Given the description of an element on the screen output the (x, y) to click on. 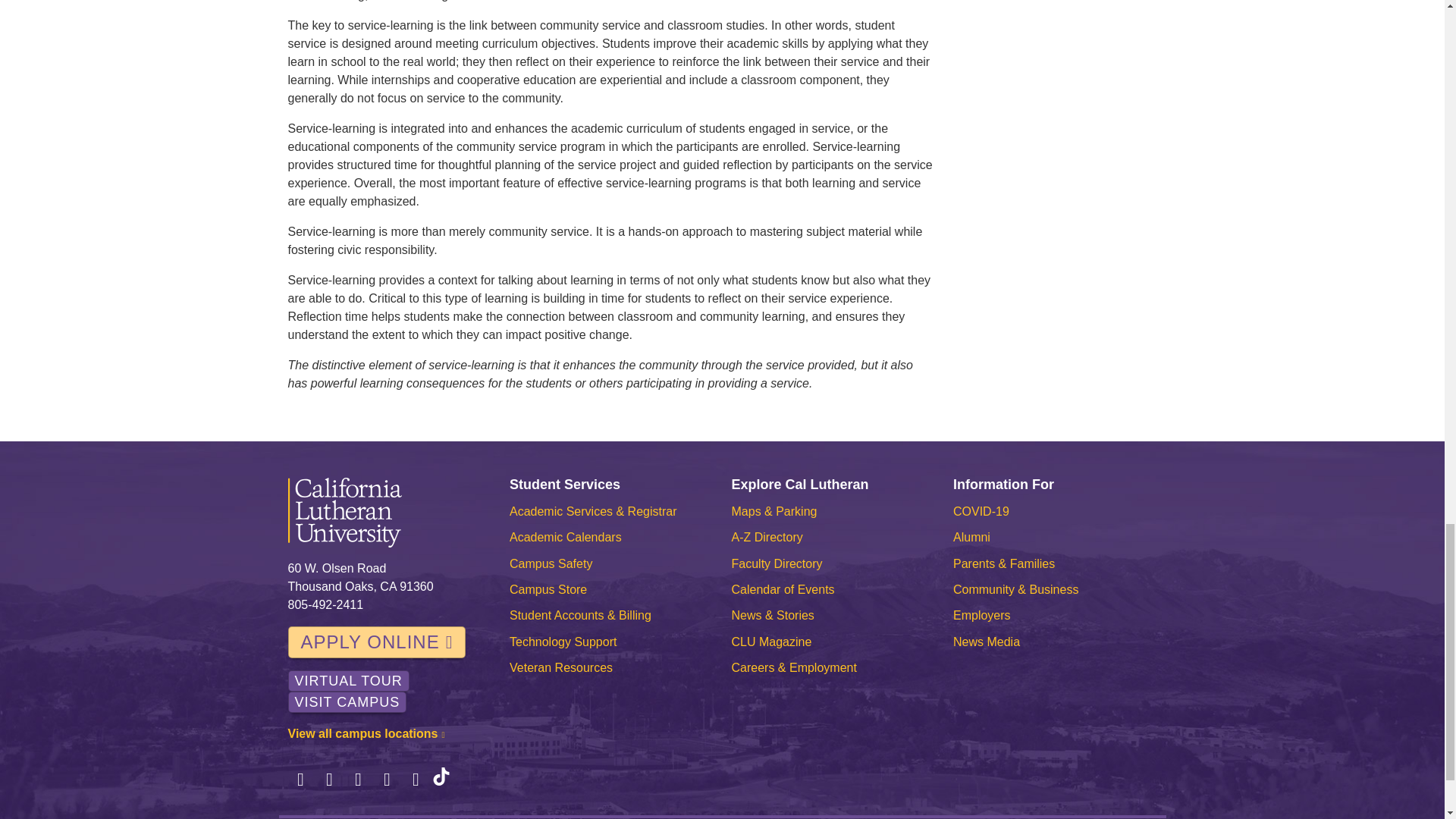
YouTube (416, 779)
LinkedIn (387, 779)
Facebook (301, 779)
Instagram (358, 779)
TikTok (440, 779)
